Given the description of an element on the screen output the (x, y) to click on. 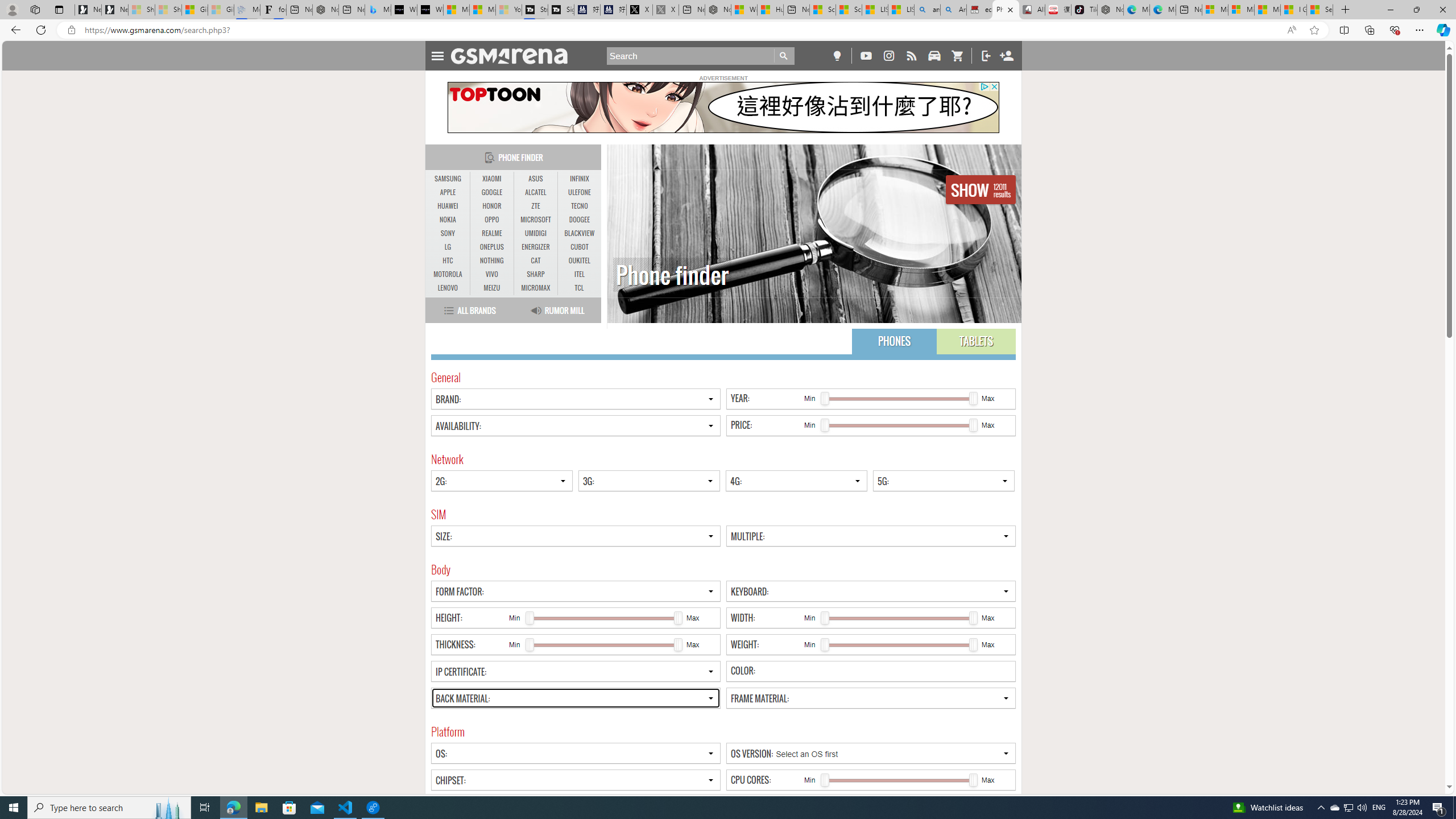
TCL (578, 287)
Newsletter Sign Up (114, 9)
Amazon Echo Dot PNG - Search Images (953, 9)
OUKITEL (579, 260)
OPPO (491, 219)
NOKIA (448, 219)
ALCATEL (535, 192)
XIAOMI (491, 178)
